Given the description of an element on the screen output the (x, y) to click on. 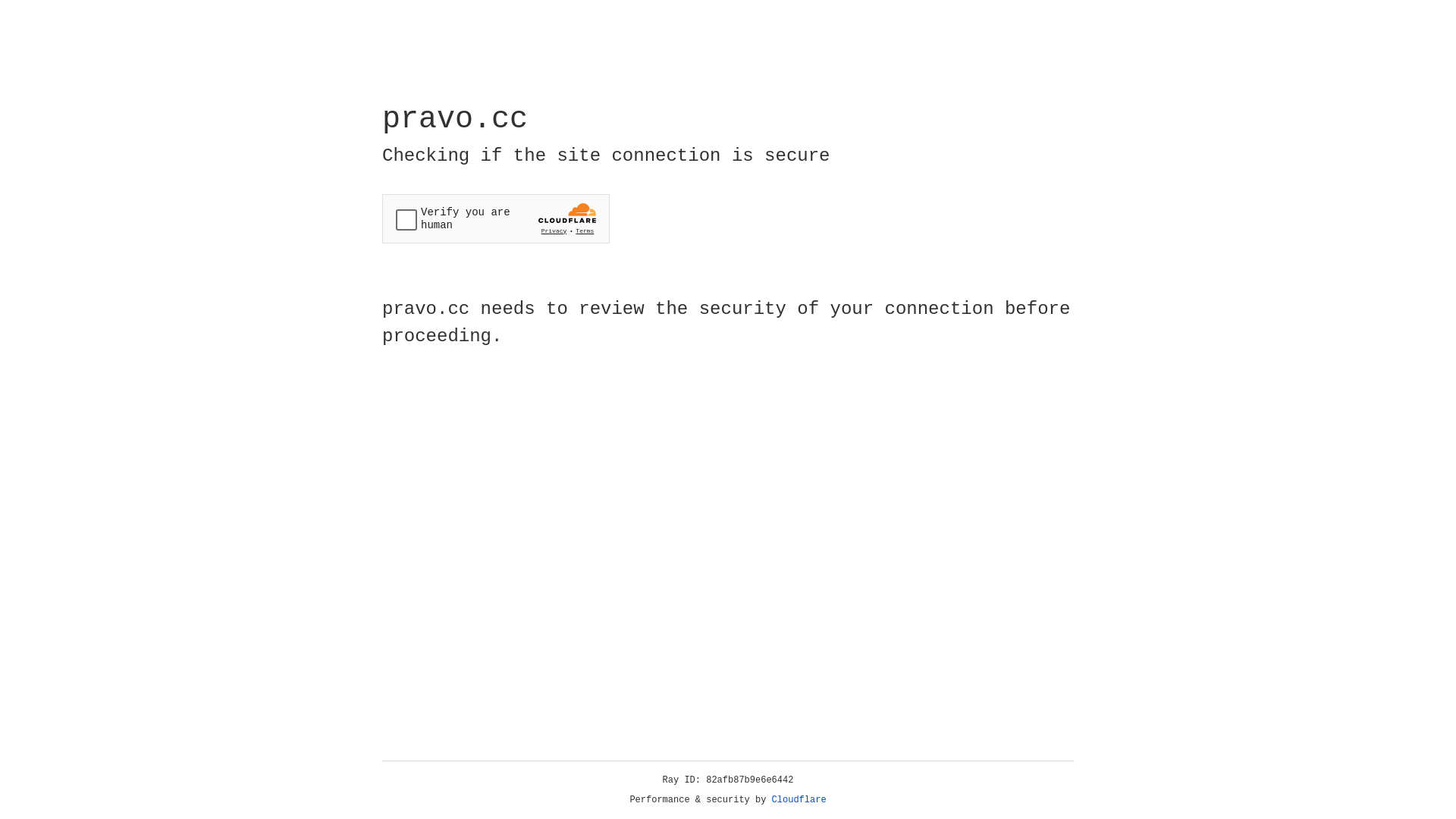
Widget containing a Cloudflare security challenge Element type: hover (495, 218)
Cloudflare Element type: text (798, 799)
